Given the description of an element on the screen output the (x, y) to click on. 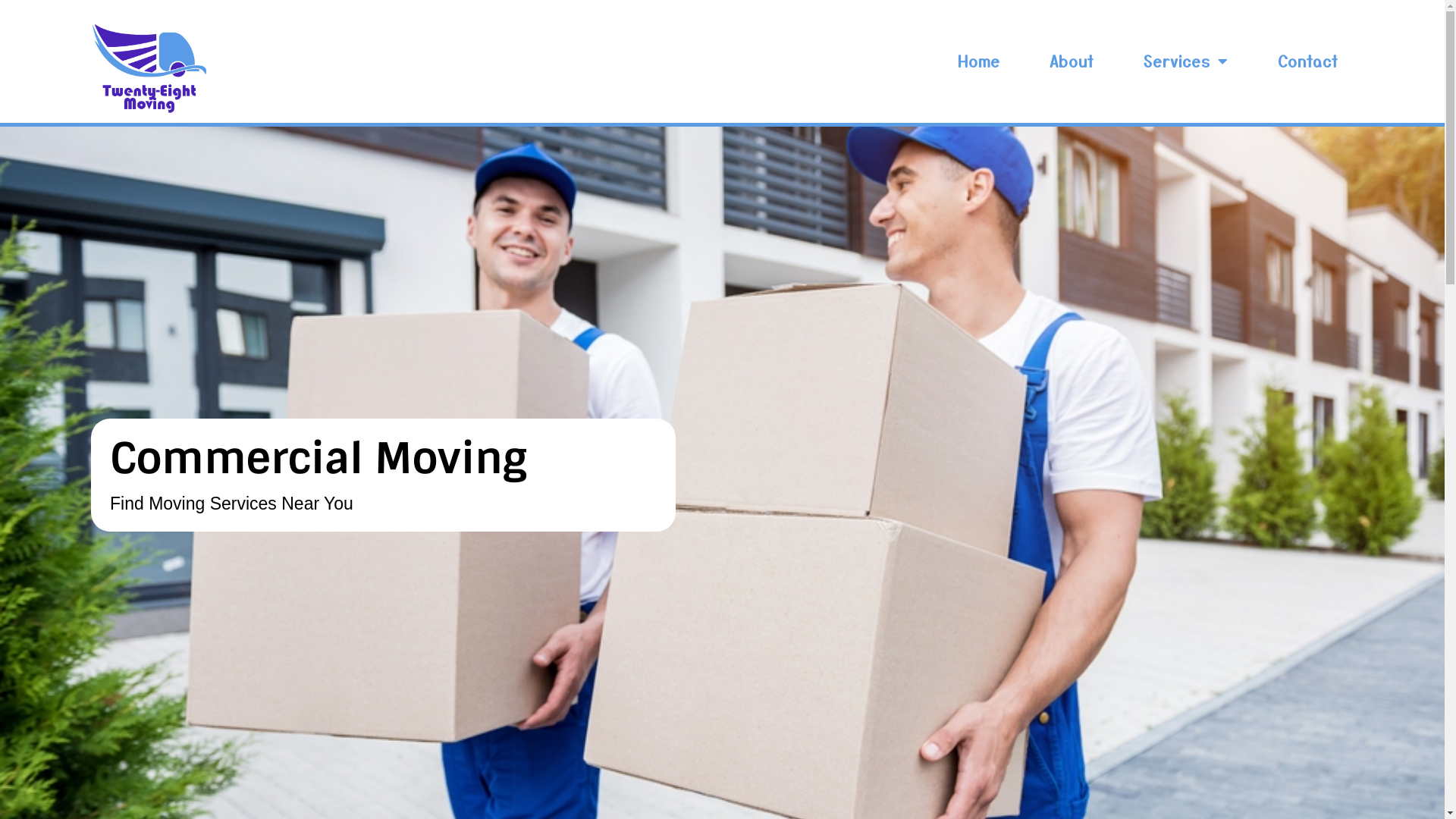
Home Element type: text (978, 60)
About Element type: text (1071, 60)
Services Element type: text (1185, 60)
Contact Element type: text (1307, 60)
